Given the description of an element on the screen output the (x, y) to click on. 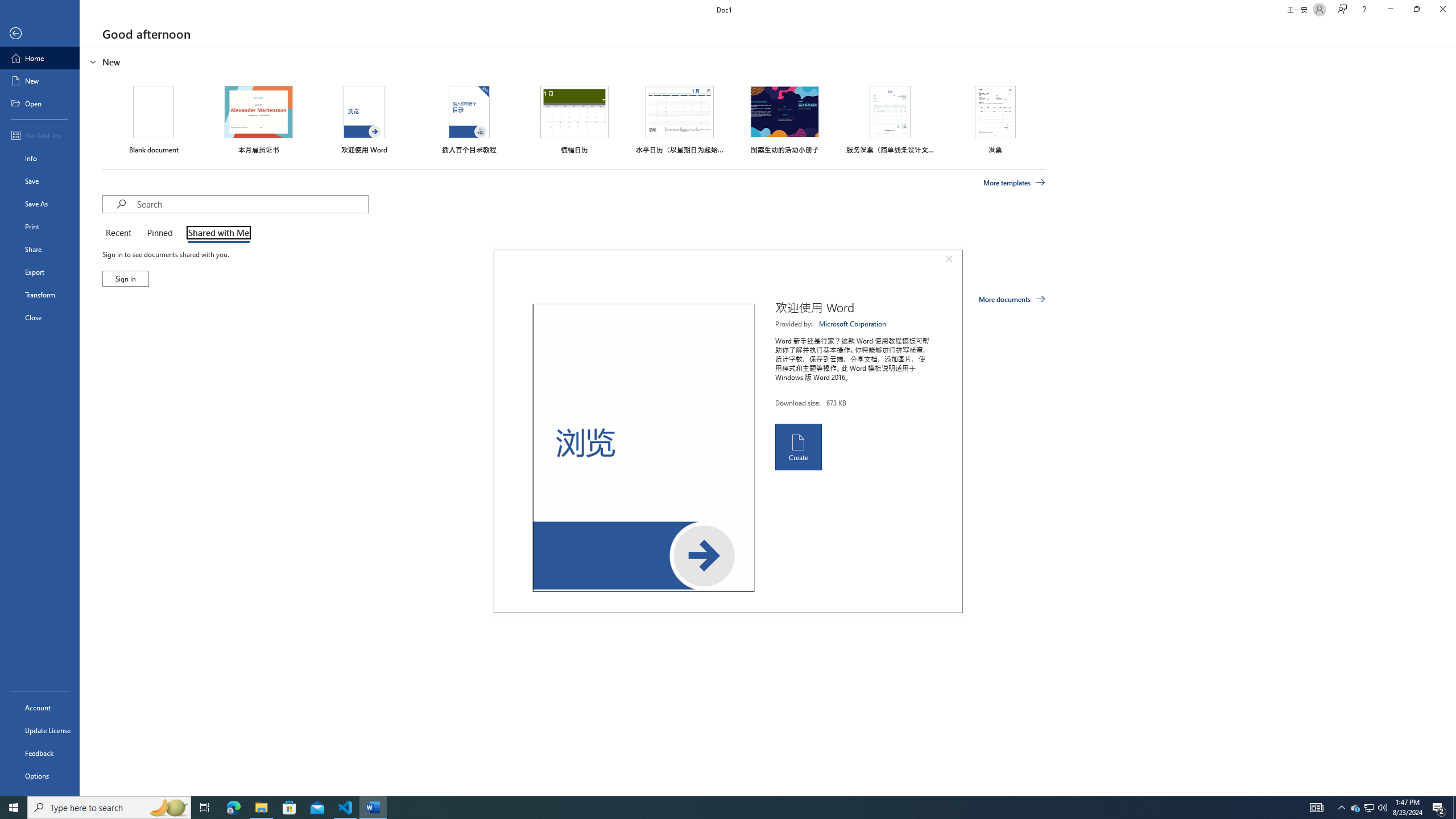
Info (40, 157)
New (40, 80)
Export (40, 271)
More templates (1014, 182)
Back (40, 33)
Create (797, 446)
Pinned (159, 233)
Print (40, 225)
